Given the description of an element on the screen output the (x, y) to click on. 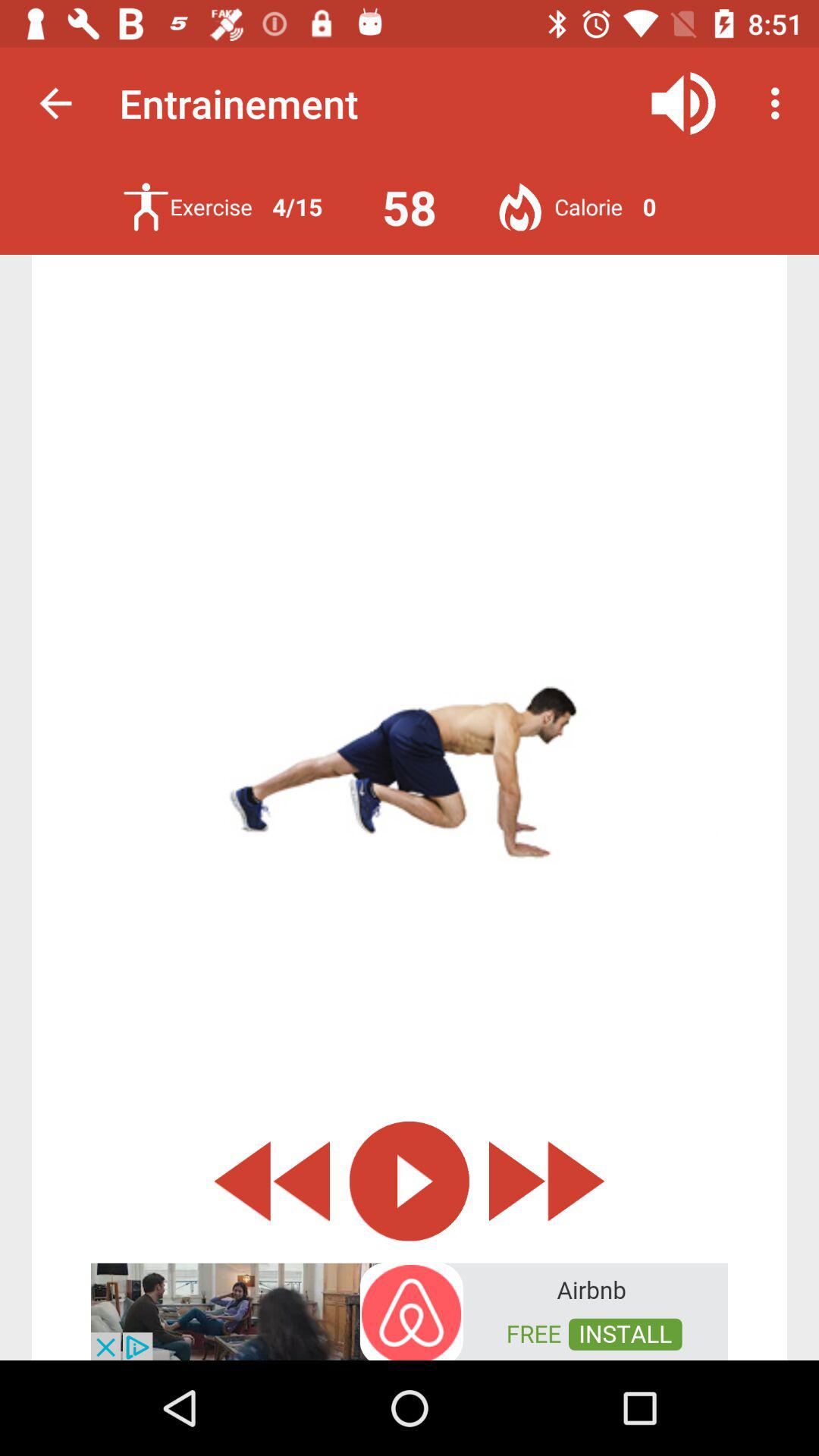
play option (409, 1181)
